Given the description of an element on the screen output the (x, y) to click on. 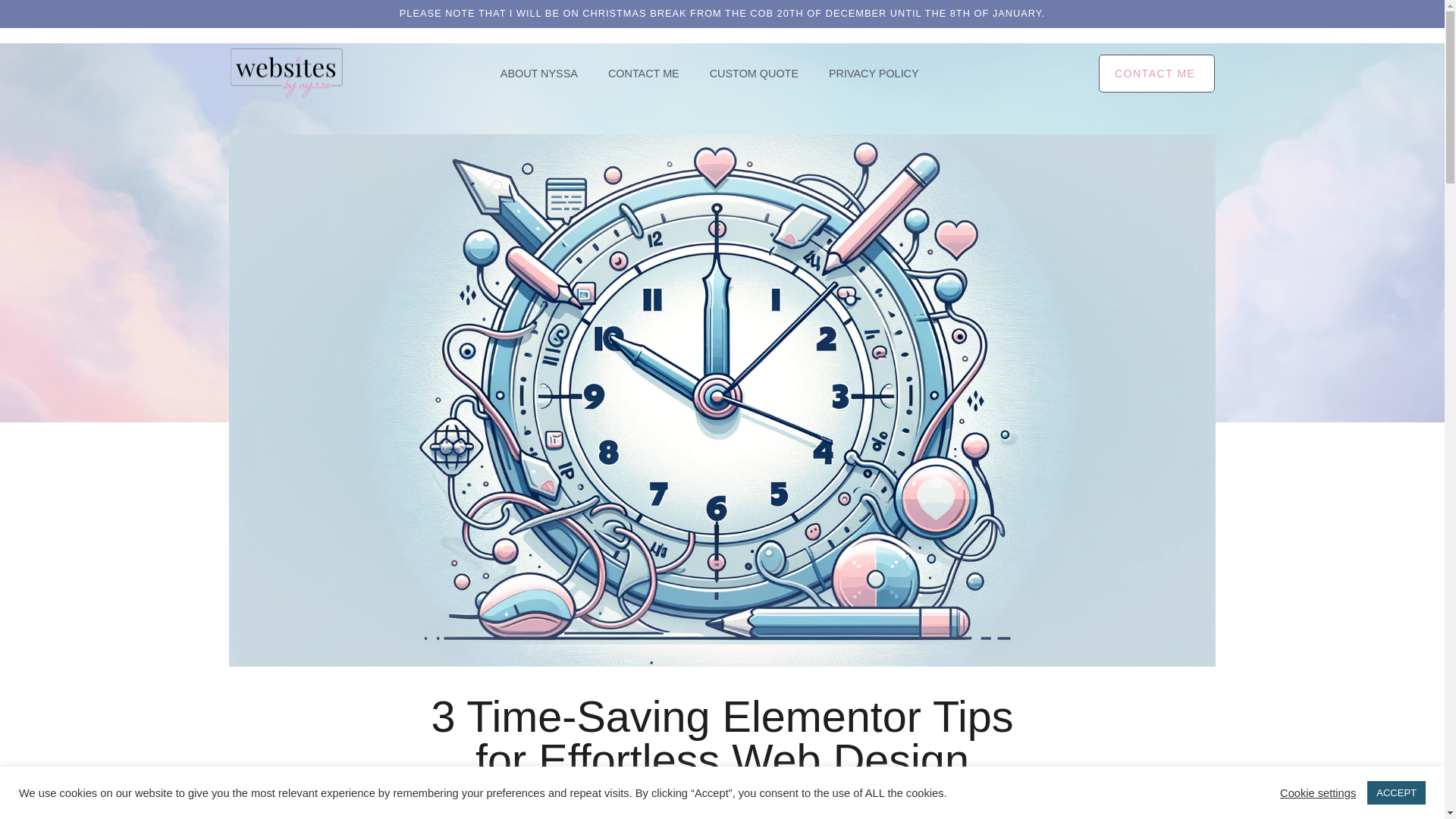
CONTACT ME (643, 73)
CONTACT ME (1157, 73)
CUSTOM QUOTE (753, 73)
PRIVACY POLICY (873, 73)
ABOUT NYSSA (539, 73)
